Given the description of an element on the screen output the (x, y) to click on. 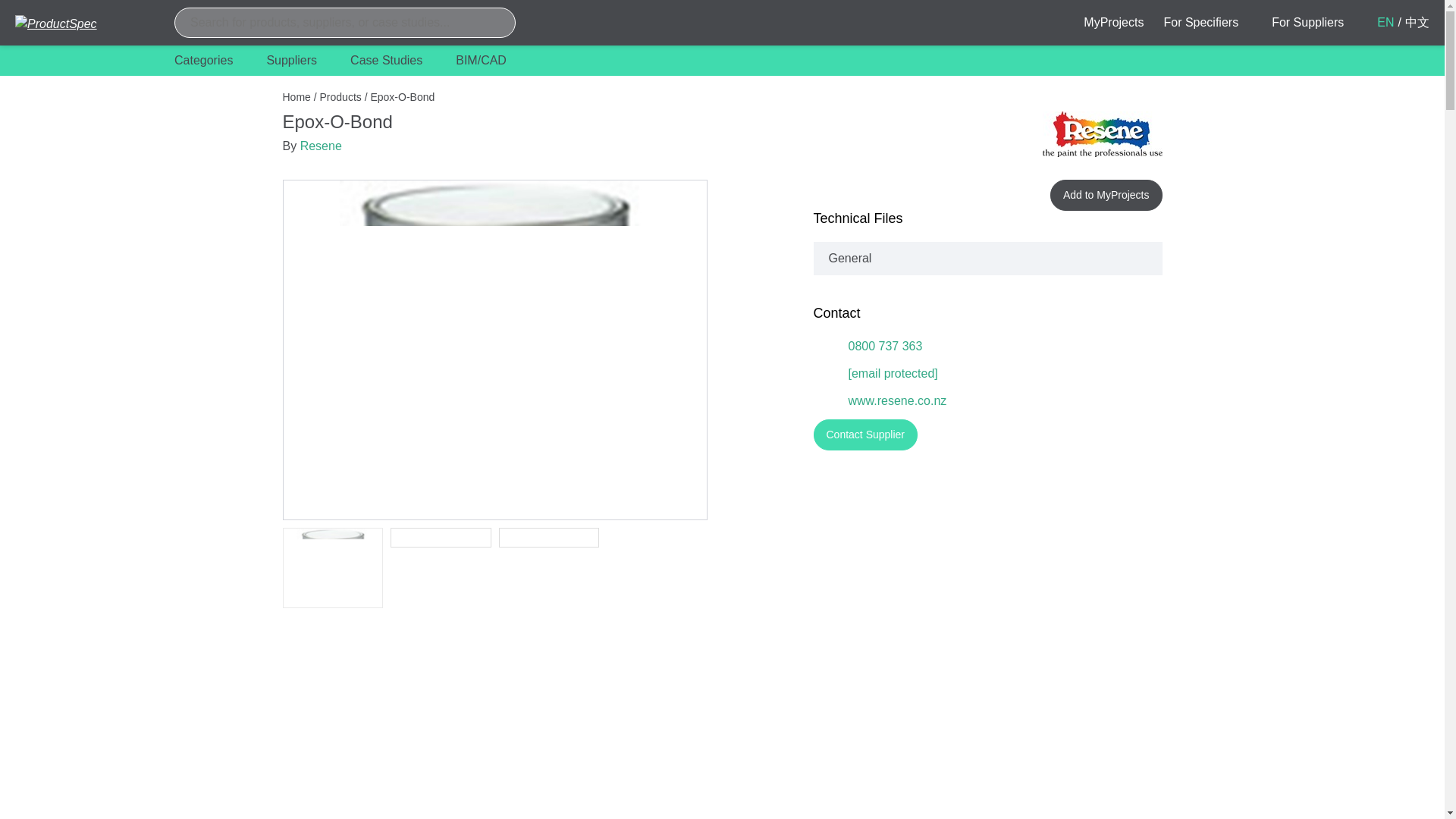
EN (1385, 22)
For Suppliers (1316, 22)
Return to ProductSpec home page. (79, 22)
Search (493, 22)
Categories (212, 60)
Resene (1101, 134)
MyProjects (1112, 21)
For Specifiers (1209, 22)
